Given the description of an element on the screen output the (x, y) to click on. 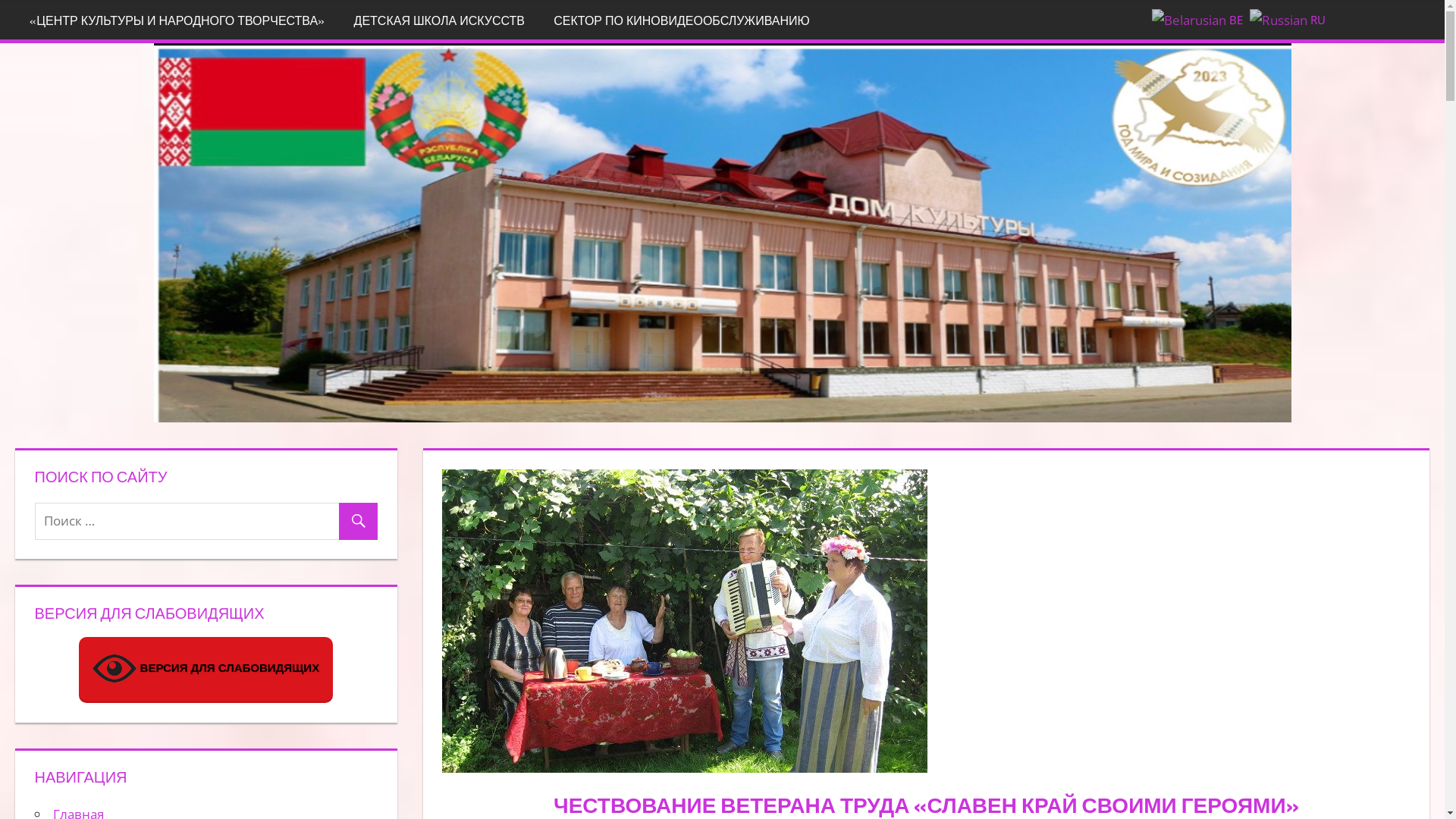
BE Element type: text (1198, 18)
RU Element type: text (1289, 18)
